Given the description of an element on the screen output the (x, y) to click on. 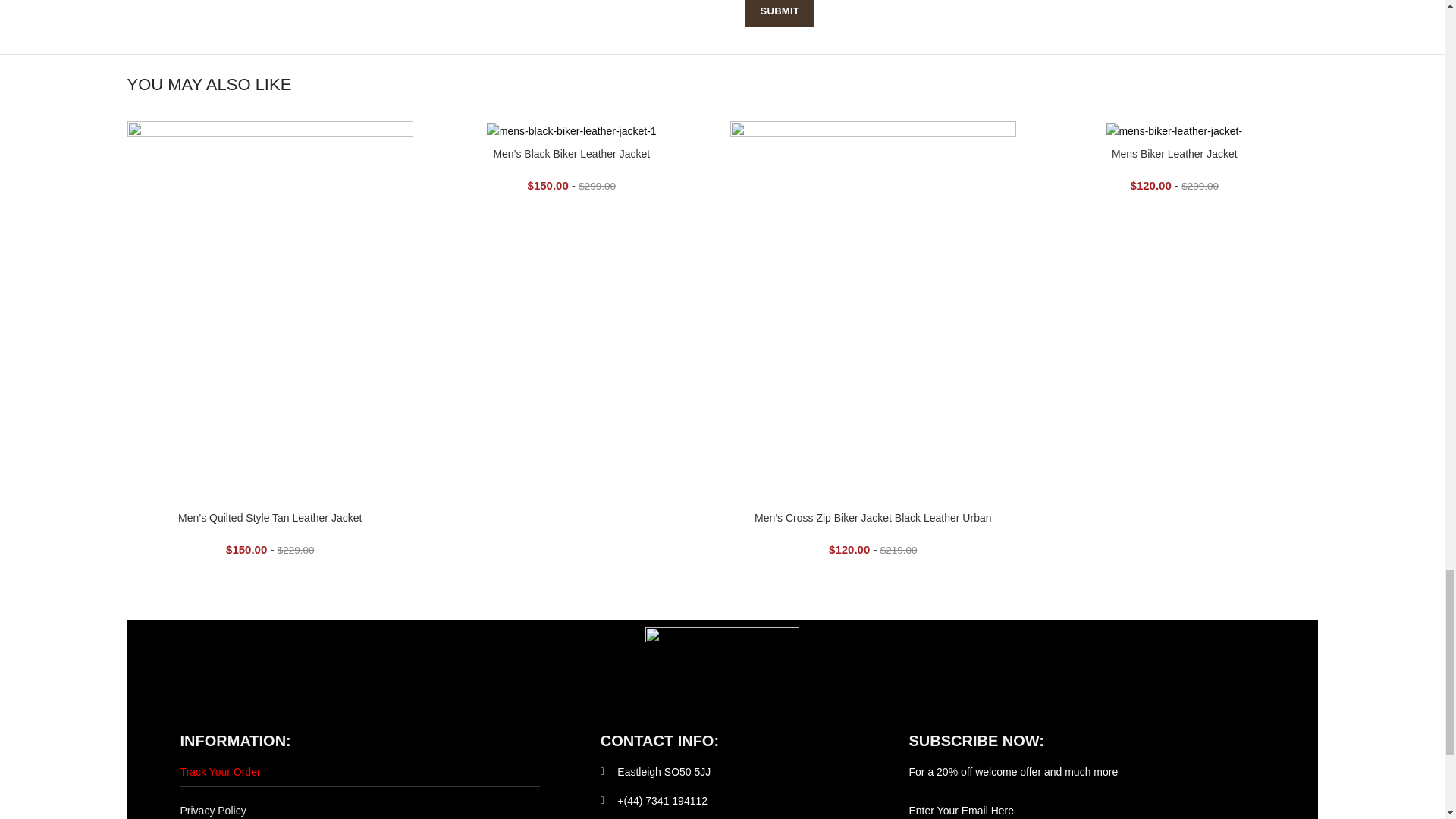
Submit (778, 13)
